Given the description of an element on the screen output the (x, y) to click on. 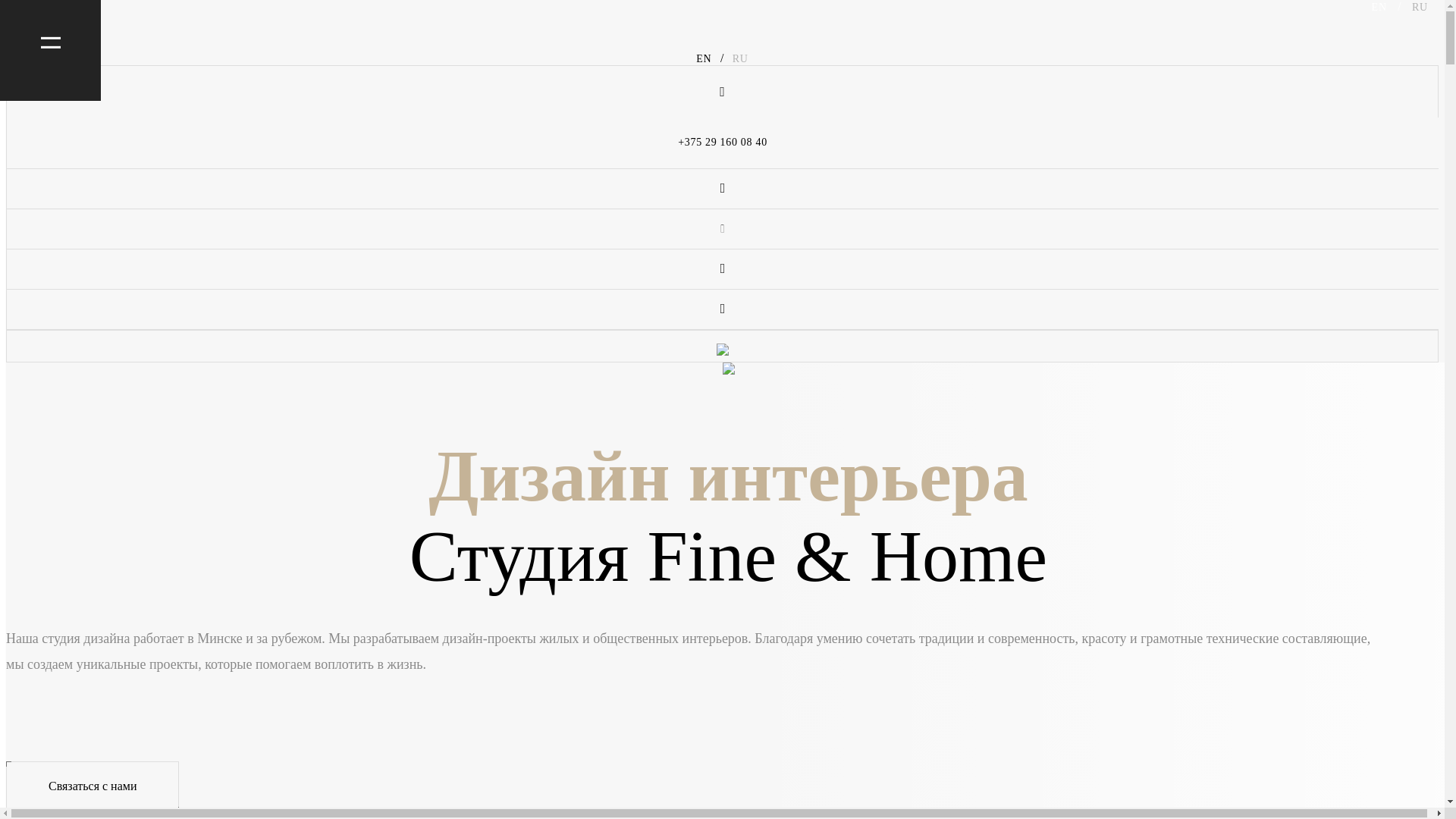
RU Element type: text (1417, 6)
EN Element type: text (1380, 6)
+375 29 160 08 40 Element type: text (722, 141)
RU Element type: text (737, 58)
EN Element type: text (705, 58)
